Given the description of an element on the screen output the (x, y) to click on. 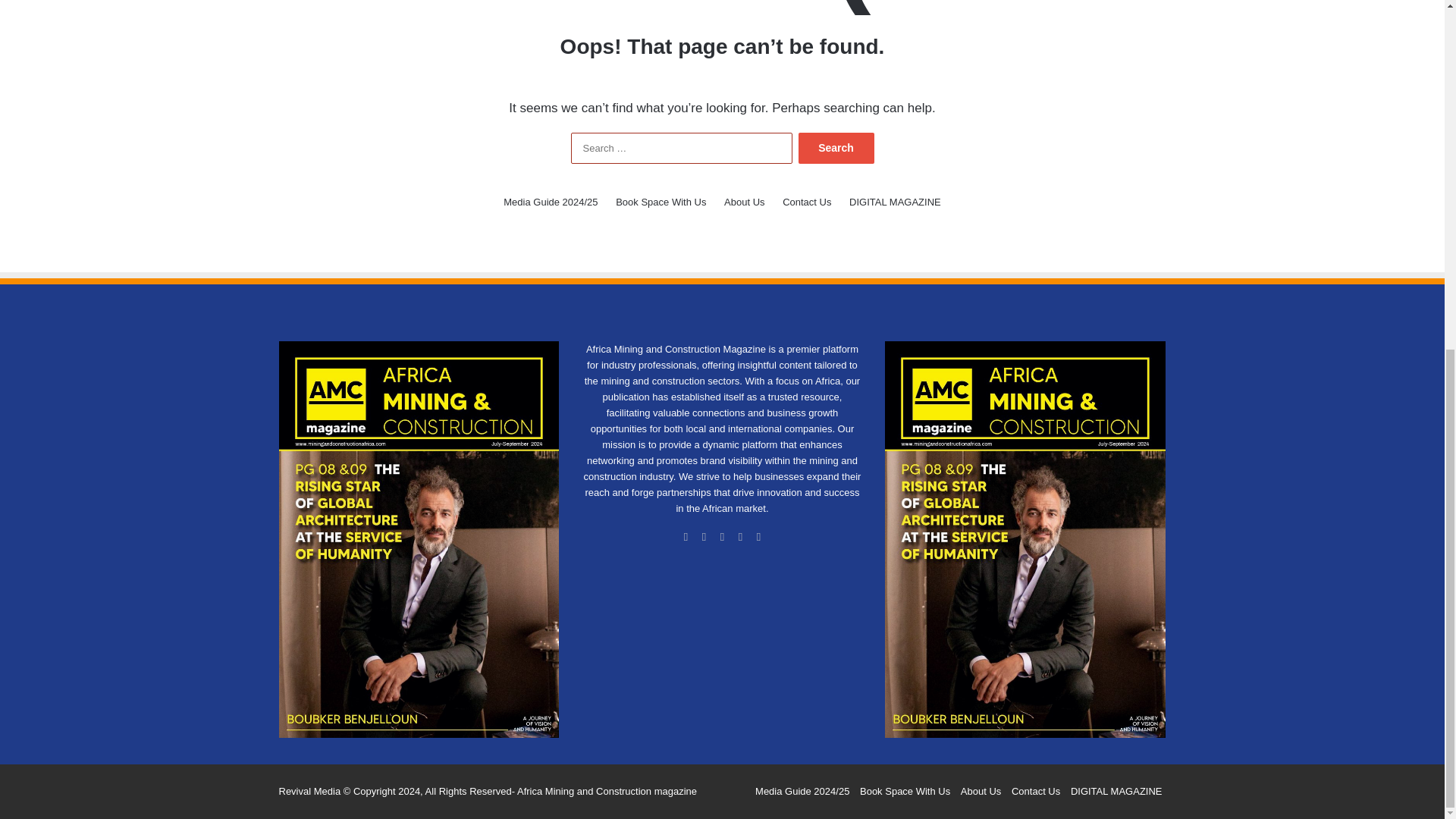
Book Space With Us (660, 201)
Search (835, 147)
YouTube (739, 536)
X (703, 536)
About Us (743, 201)
LinkedIn (721, 536)
Search (835, 147)
Instagram (758, 536)
DIGITAL MAGAZINE (894, 201)
Contact Us (807, 201)
